Given the description of an element on the screen output the (x, y) to click on. 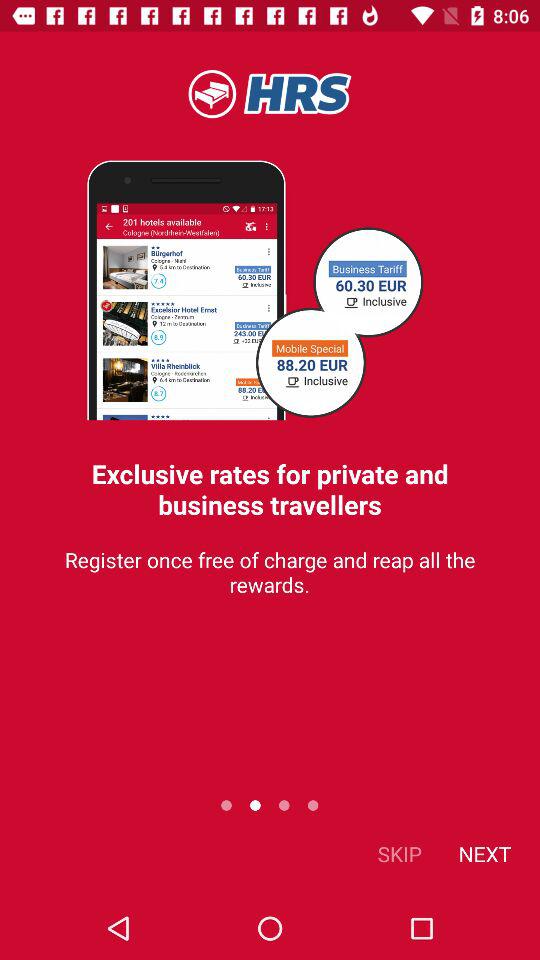
select the item below register once free item (399, 853)
